Given the description of an element on the screen output the (x, y) to click on. 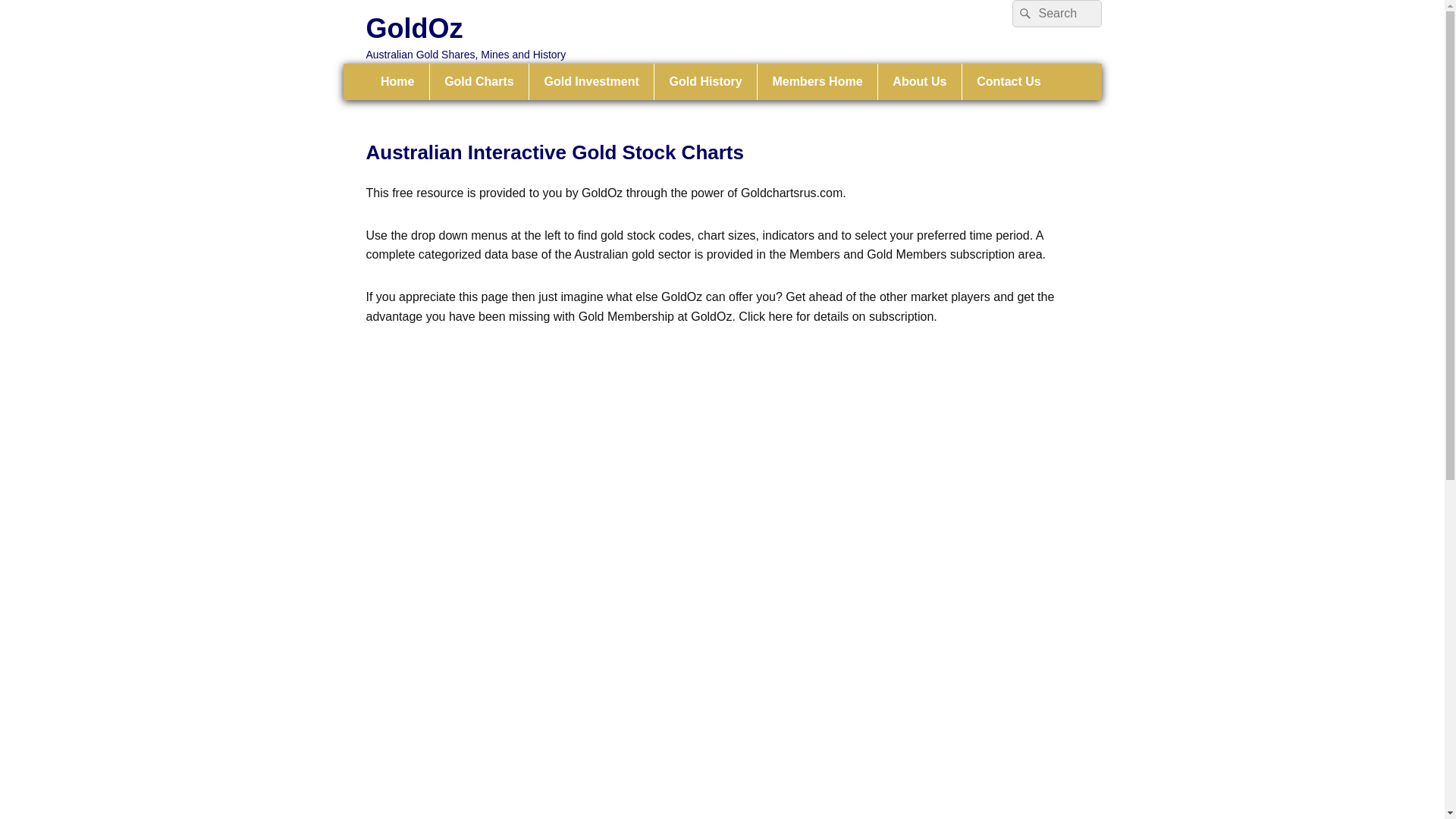
Gold History Element type: text (705, 81)
About Us Element type: text (919, 81)
GoldOz Element type: text (413, 27)
Members Home Element type: text (817, 81)
Home Element type: text (396, 81)
Search for: Element type: hover (1056, 13)
Gold Investment Element type: text (591, 81)
Contact Us Element type: text (1008, 81)
Search Element type: text (1022, 13)
Gold Charts Element type: text (478, 81)
